Given the description of an element on the screen output the (x, y) to click on. 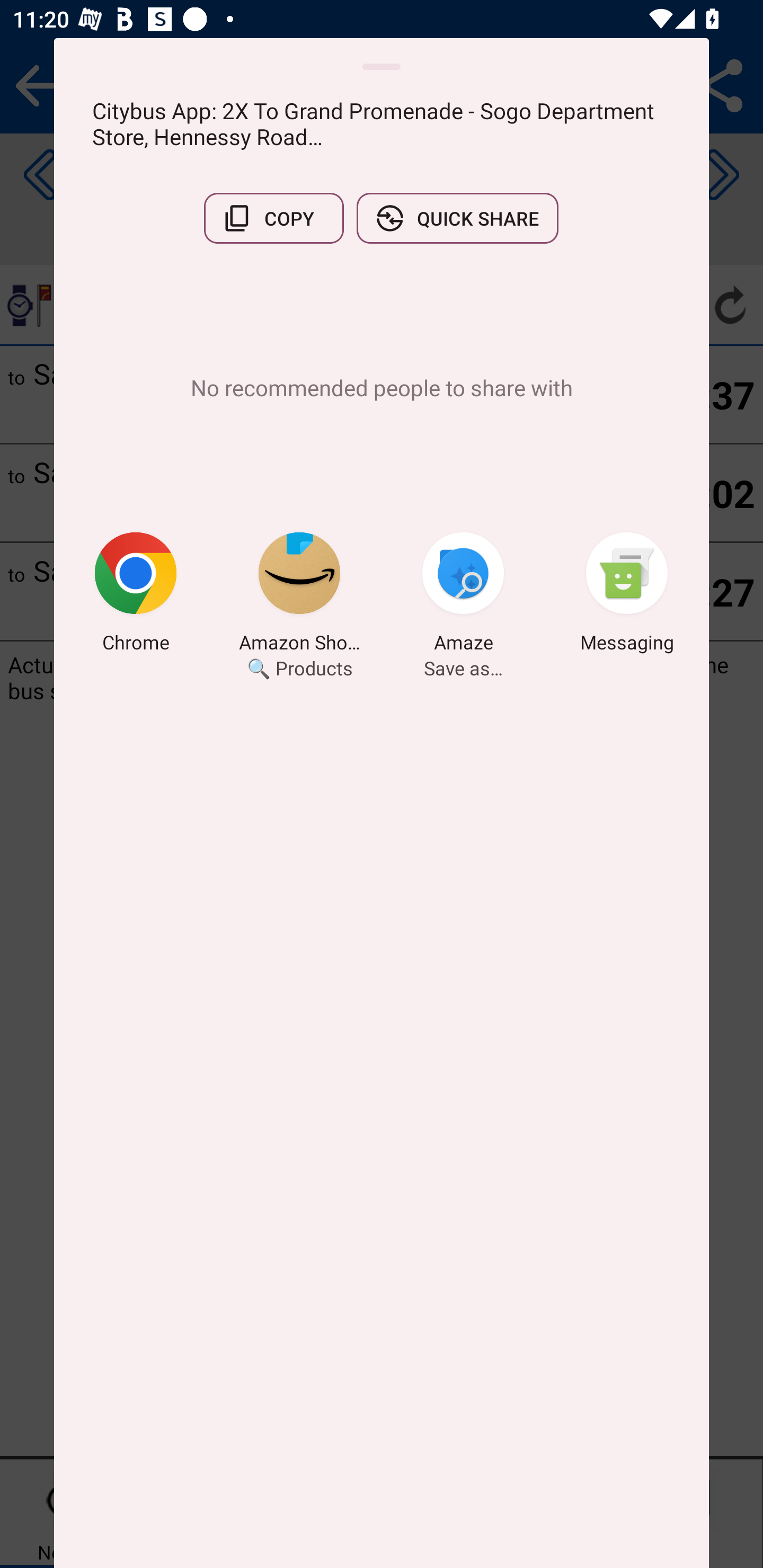
COPY (273, 218)
QUICK SHARE (457, 218)
Chrome (135, 594)
Amazon Shopping 🔍 Products (299, 594)
Amaze Save as… (463, 594)
Messaging (626, 594)
